Given the description of an element on the screen output the (x, y) to click on. 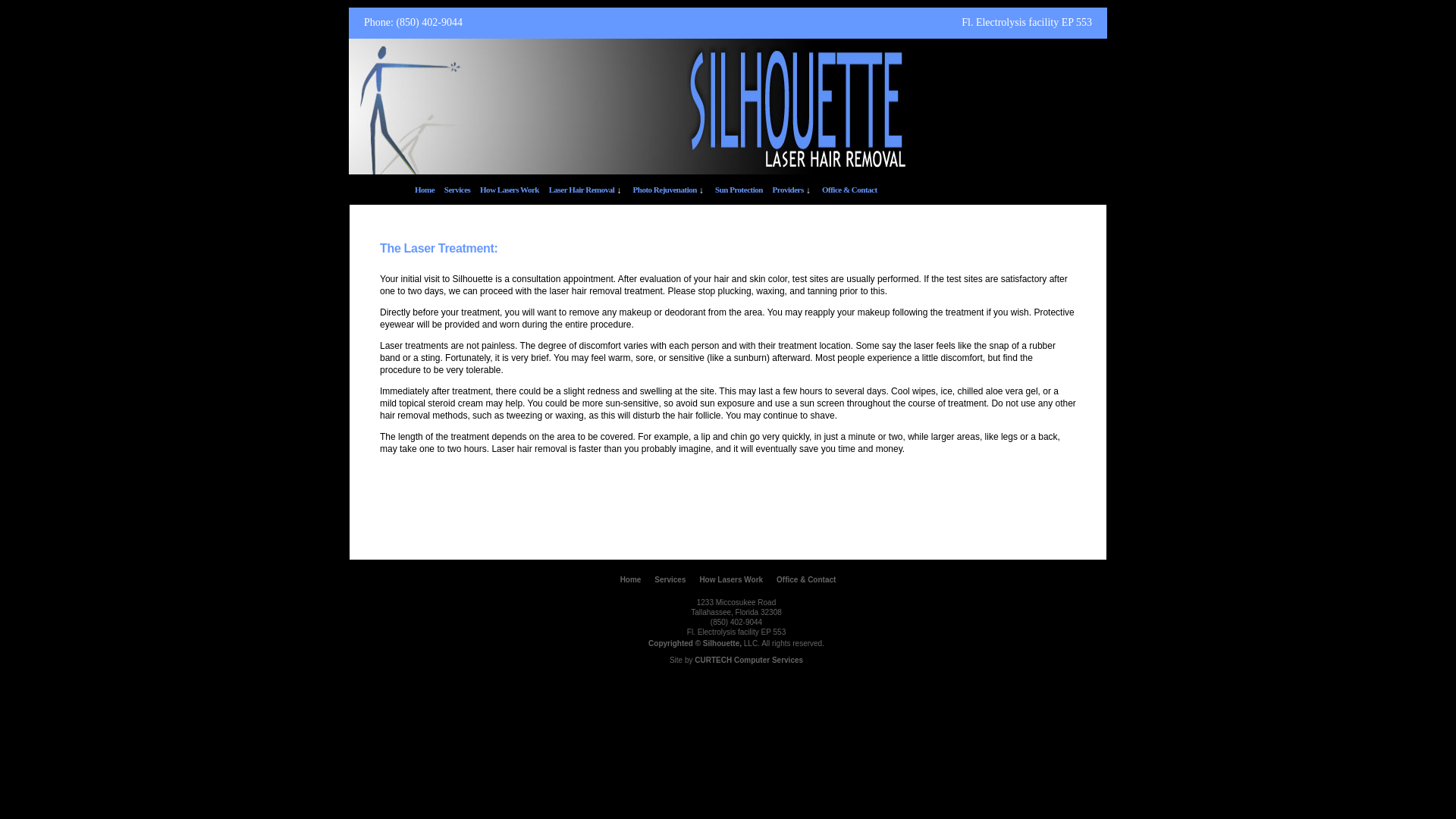
Home (423, 189)
Providers (788, 189)
How Lasers Work (730, 579)
Laser Hair Removal (581, 189)
Sun Protection (738, 189)
CURTECH Computer Services (748, 660)
Photo Rejuvenation (665, 189)
Home (631, 579)
Services (669, 579)
Services (457, 189)
How Lasers Work (509, 189)
